Given the description of an element on the screen output the (x, y) to click on. 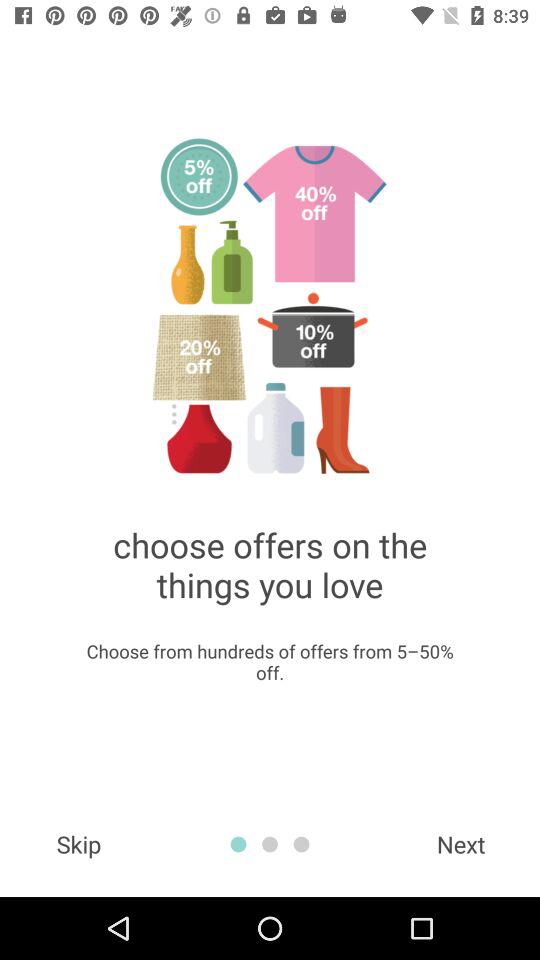
press the icon at the bottom right corner (461, 844)
